Given the description of an element on the screen output the (x, y) to click on. 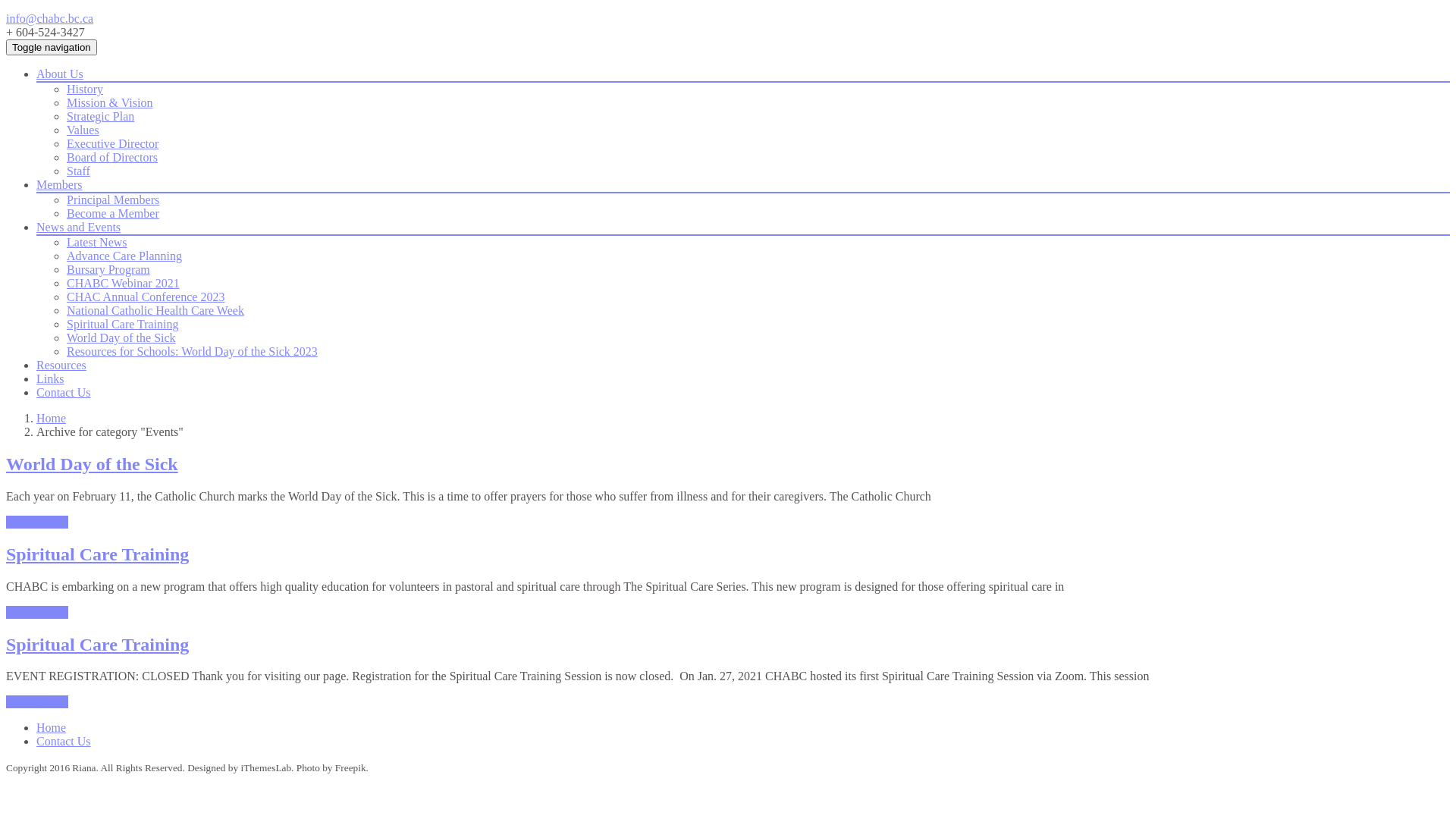
Latest News Element type: text (96, 241)
National Catholic Health Care Week Element type: text (155, 310)
Members Element type: text (58, 184)
News and Events Element type: text (78, 226)
Board of Directors Element type: text (111, 156)
Advance Care Planning Element type: text (124, 255)
Values Element type: text (82, 129)
History Element type: text (84, 88)
Home Element type: text (50, 417)
Resources for Schools: World Day of the Sick 2023 Element type: text (191, 351)
Read more... Element type: text (37, 611)
About Us Element type: text (59, 73)
Staff Element type: text (78, 170)
Spiritual Care Training Element type: text (97, 554)
CHABC Webinar 2021 Element type: text (122, 282)
Become a Member Element type: text (112, 213)
Spiritual Care Training Element type: text (122, 323)
Read more... Element type: text (37, 521)
info@chabc.bc.ca Element type: text (49, 18)
World Day of the Sick Element type: text (92, 463)
Contact Us Element type: text (63, 740)
CHAC Annual Conference 2023 Element type: text (145, 296)
Bursary Program Element type: text (108, 269)
World Day of the Sick Element type: text (120, 337)
Toggle navigation Element type: text (51, 47)
Contact Us Element type: text (63, 391)
Resources Element type: text (61, 364)
Spiritual Care Training Element type: text (97, 644)
Home Element type: text (50, 727)
Strategic Plan Element type: text (100, 115)
Principal Members Element type: text (112, 199)
Executive Director Element type: text (112, 143)
Read more... Element type: text (37, 701)
Mission & Vision Element type: text (109, 102)
Links Element type: text (49, 378)
